Given the description of an element on the screen output the (x, y) to click on. 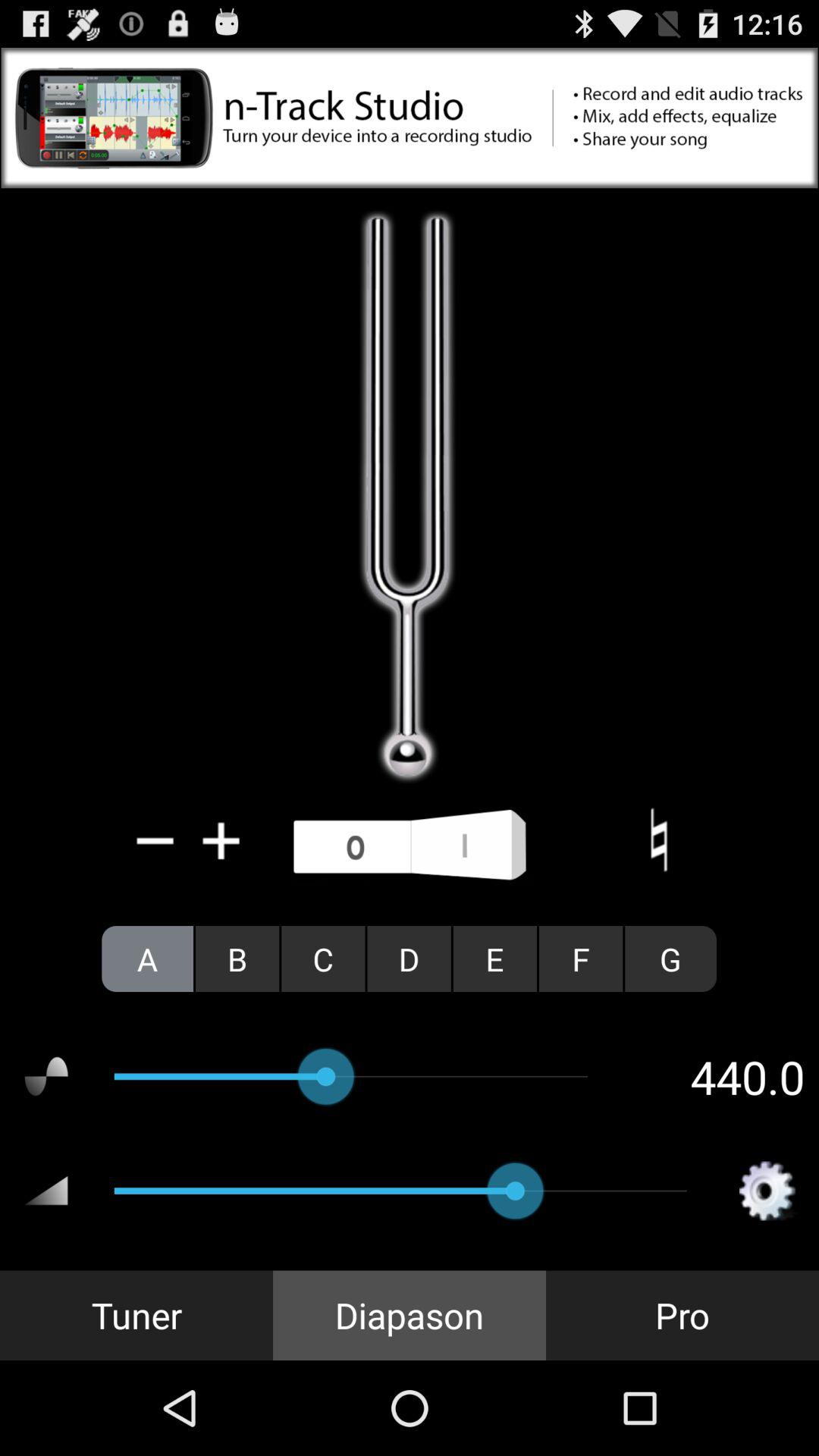
click the icon next to e icon (580, 958)
